Given the description of an element on the screen output the (x, y) to click on. 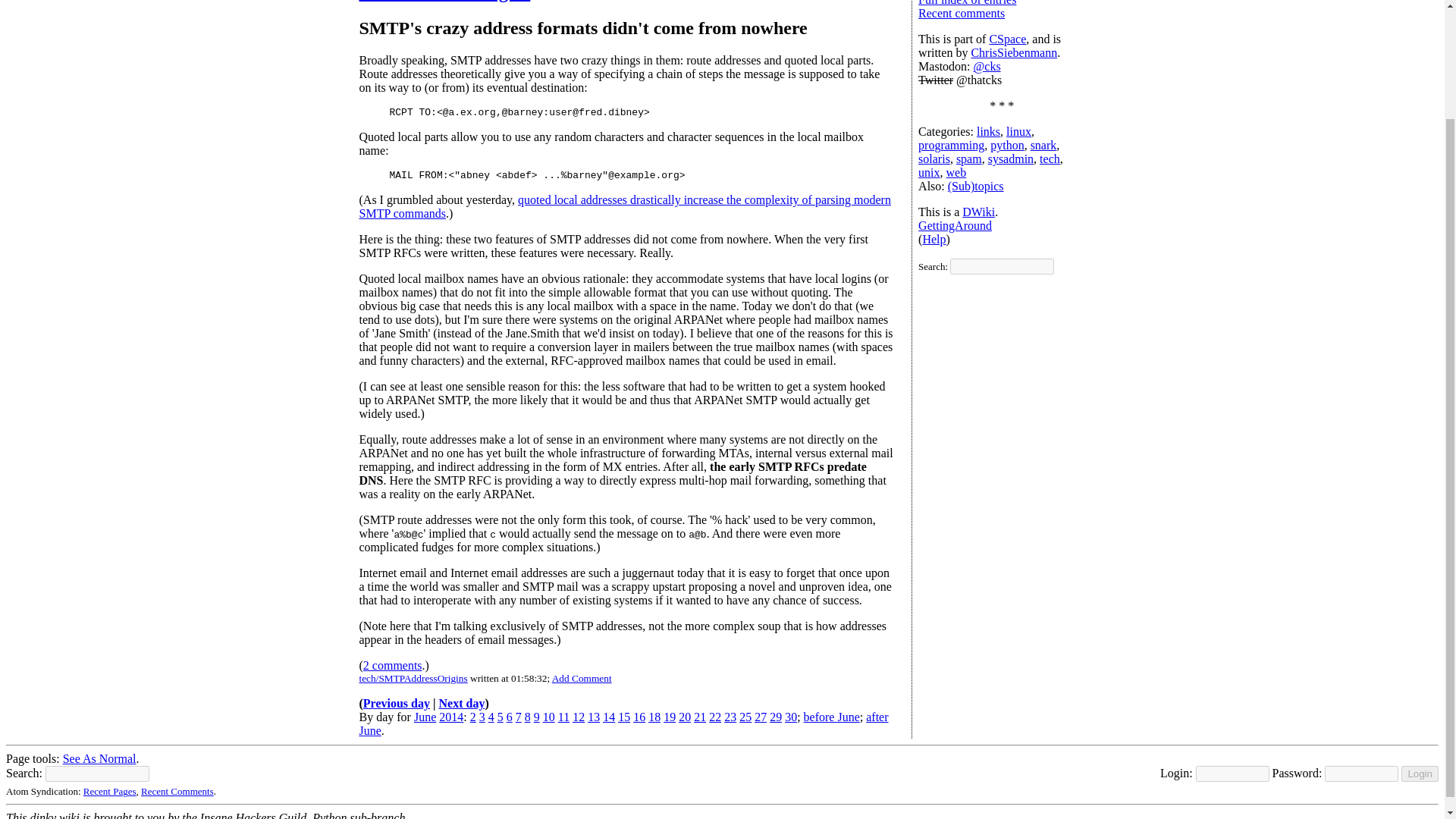
16 (639, 716)
27 (760, 716)
Previous day (395, 703)
Next day (461, 703)
25 (745, 716)
12 (578, 716)
SMTPAddressOrigins (445, 1)
29 (775, 716)
14 (608, 716)
